Given the description of an element on the screen output the (x, y) to click on. 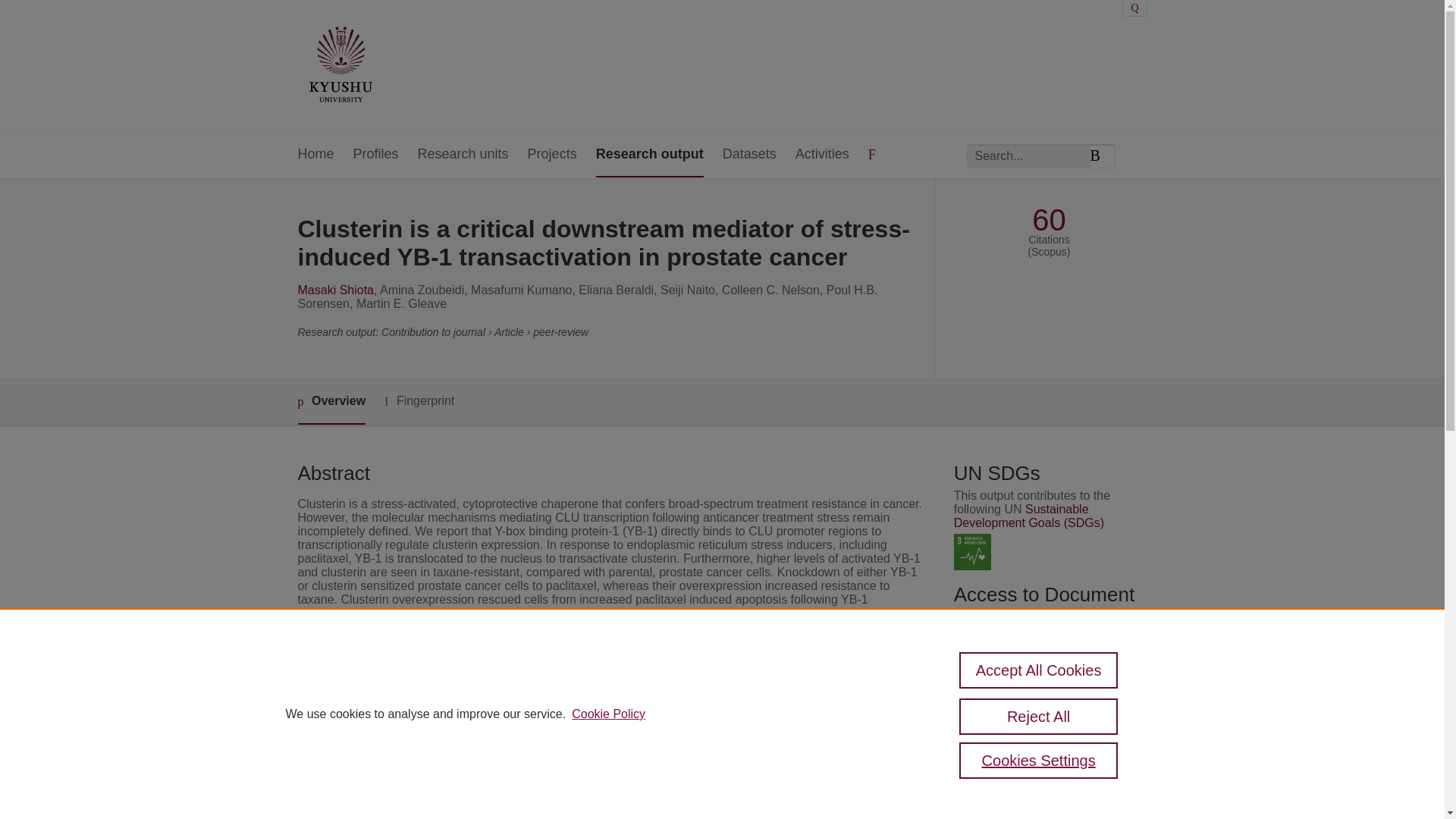
Masaki Shiota (335, 289)
Research units (462, 154)
Research output (649, 154)
Molecular Cancer Research (584, 730)
Link to publication in Scopus (1045, 689)
Link to the citations in Scopus (1048, 715)
Datasets (749, 154)
Overview (331, 402)
Activities (821, 154)
60 (1048, 220)
Projects (551, 154)
Profiles (375, 154)
Fingerprint (419, 401)
SDG 3 - Good Health and Well-being (972, 551)
